Given the description of an element on the screen output the (x, y) to click on. 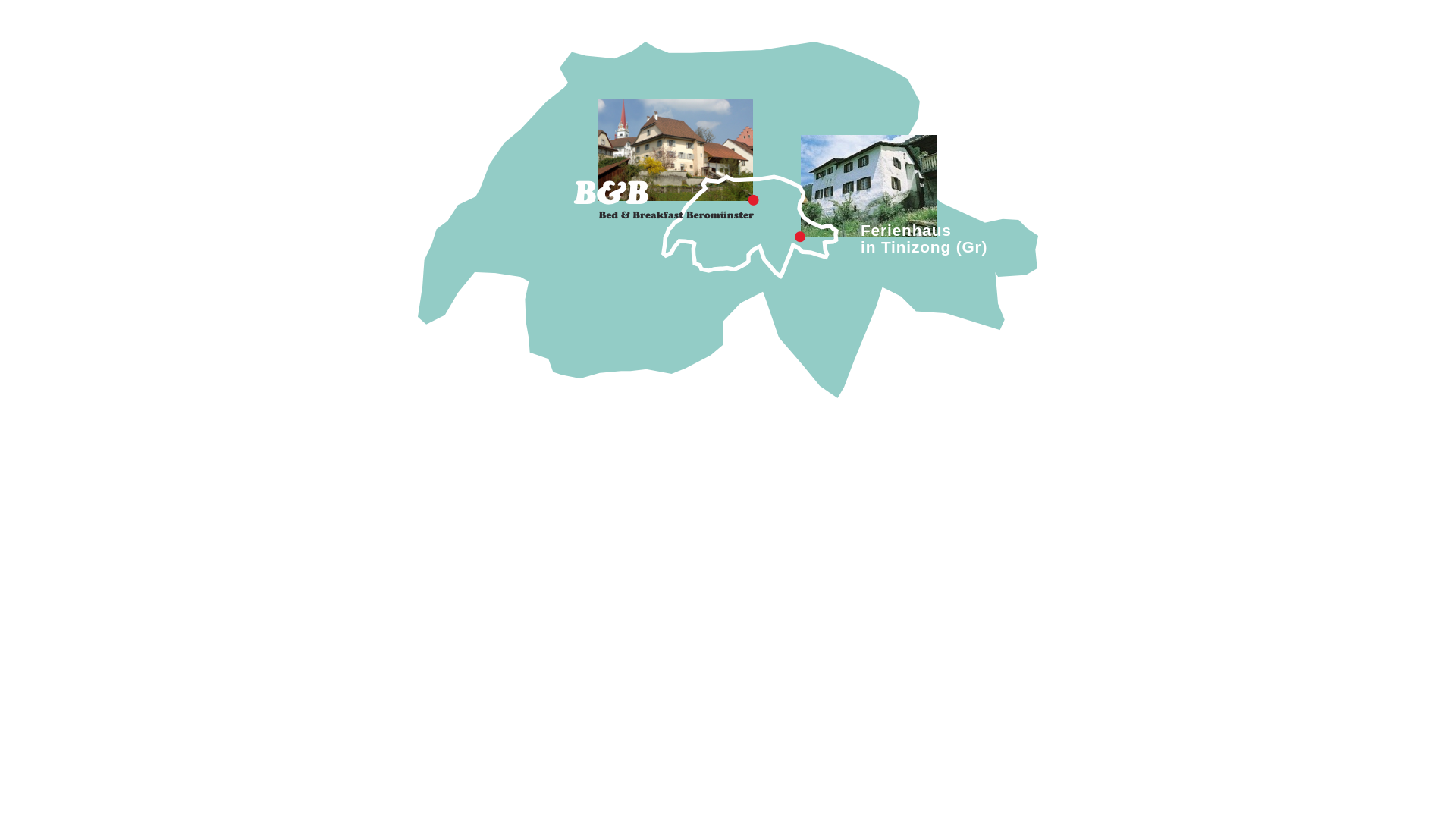
Bed_and_Breakfast.html Element type: hover (664, 251)
http://www.weitundbreit.ch Element type: hover (868, 231)
in Tinizong (Gr) Element type: text (923, 246)
Ferienhaus Element type: text (905, 229)
